Given the description of an element on the screen output the (x, y) to click on. 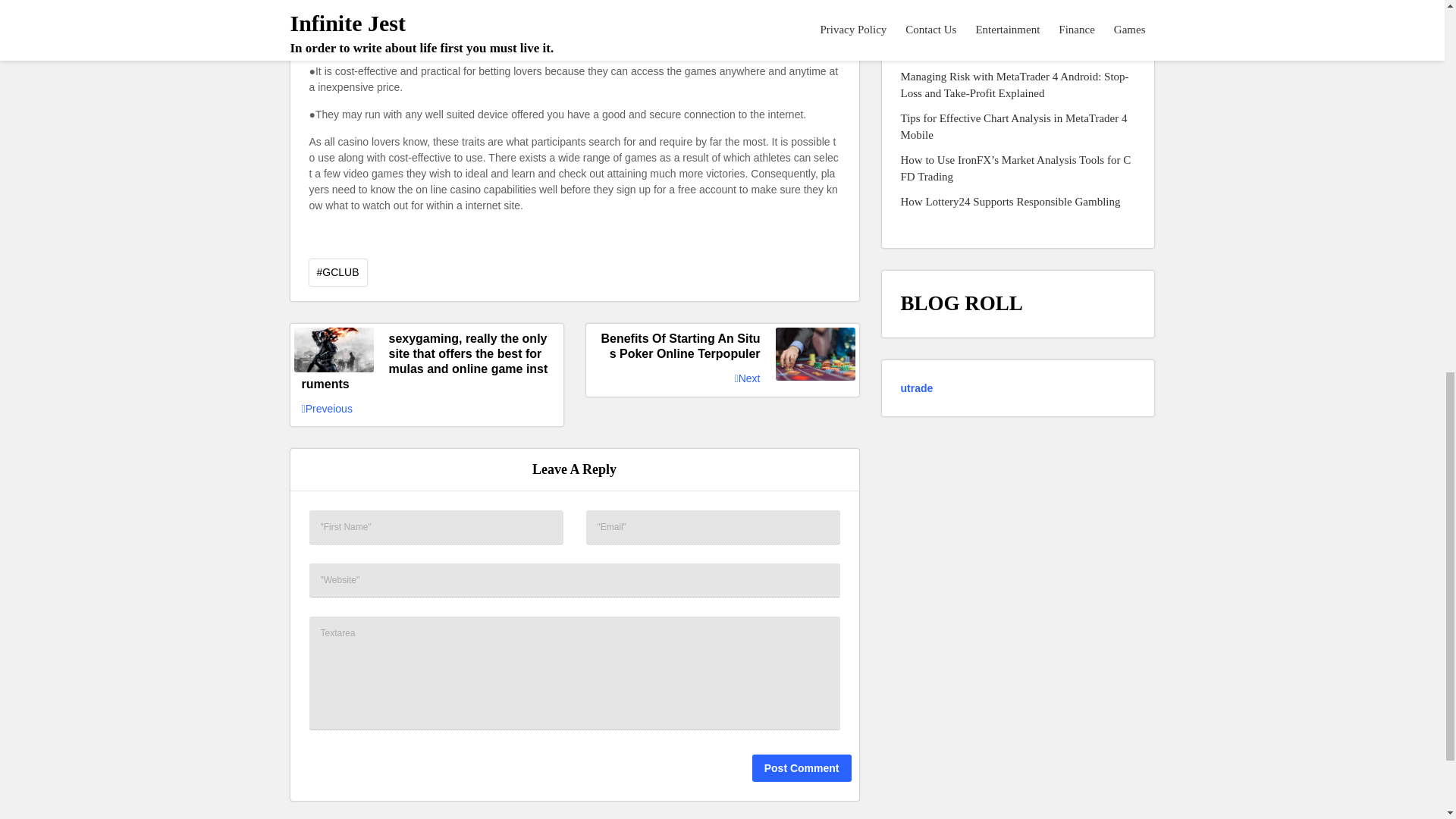
Post Comment (801, 768)
utrade (917, 388)
How Lottery24 Supports Responsible Gambling (1011, 201)
Preveious (326, 408)
GCLUB (337, 272)
MetaTrader 4 for Long-Term Investing: Tips and Strategies (1018, 43)
Next (747, 378)
Post Comment (801, 768)
Benefits Of Starting An Situs Poker Online Terpopuler (721, 346)
